Given the description of an element on the screen output the (x, y) to click on. 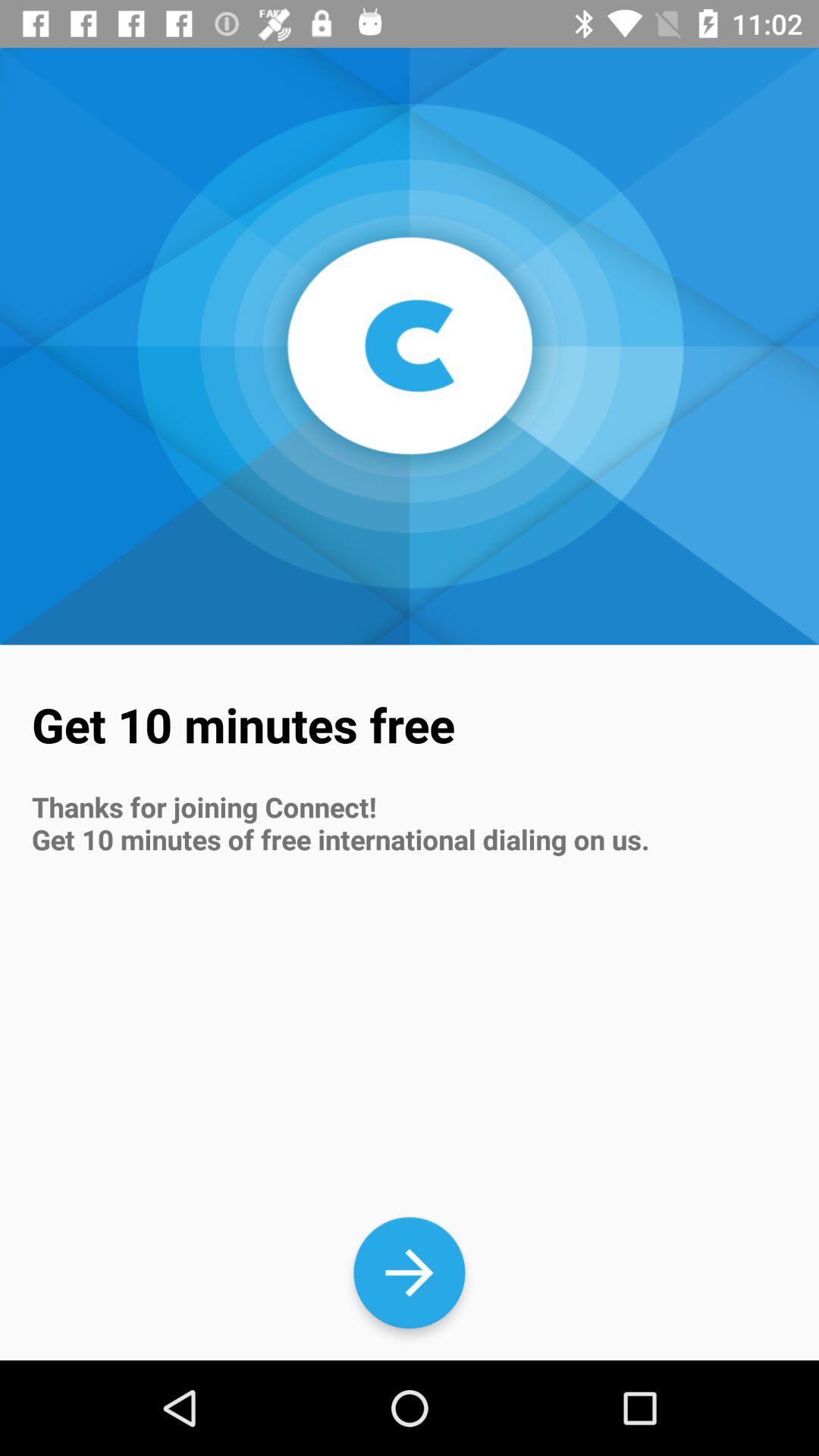
next page (409, 1272)
